Given the description of an element on the screen output the (x, y) to click on. 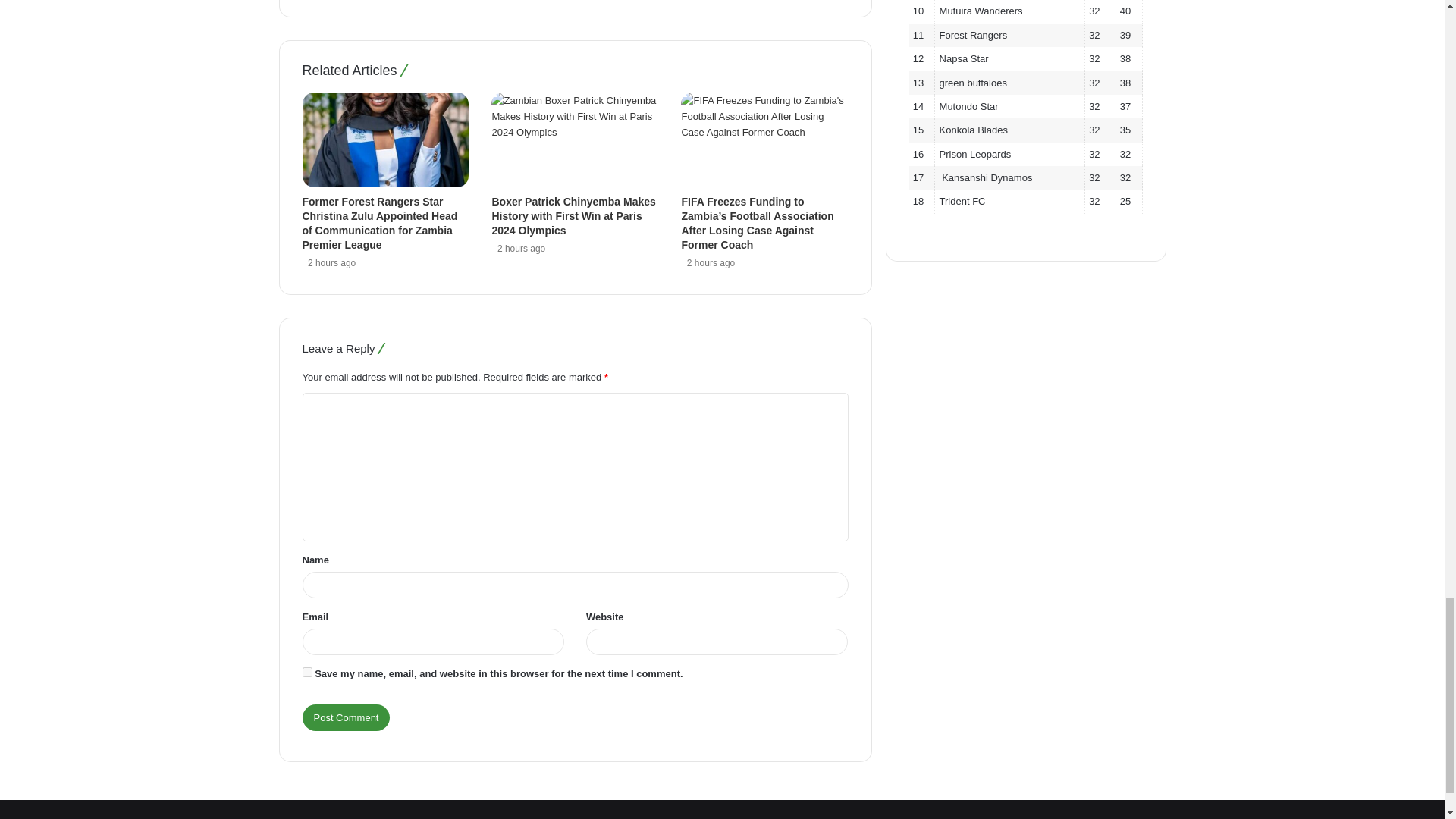
yes (306, 672)
Post Comment (345, 717)
